Given the description of an element on the screen output the (x, y) to click on. 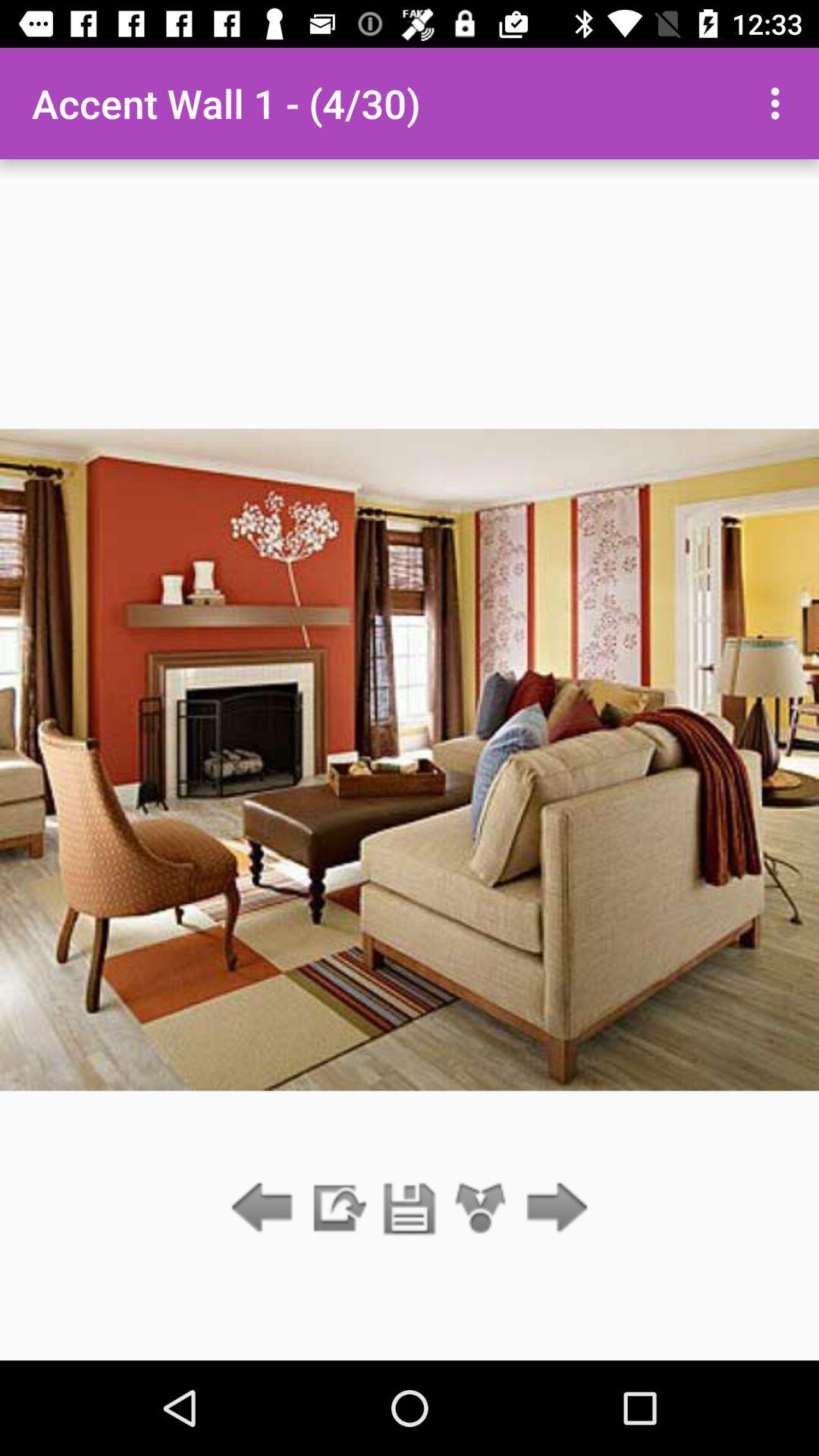
tap item below the accent wall 1 icon (337, 1208)
